Given the description of an element on the screen output the (x, y) to click on. 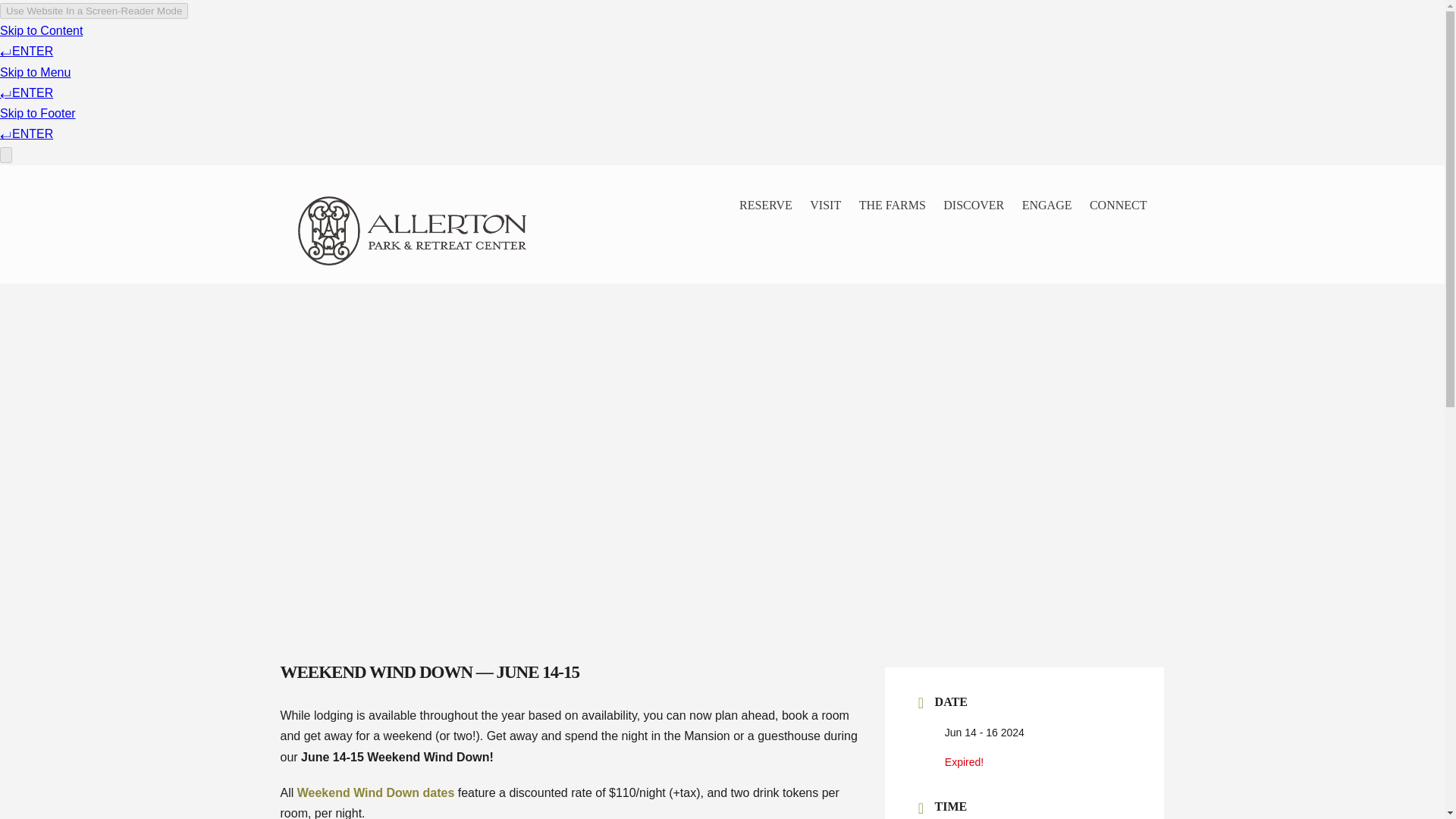
ALLERTON (449, 229)
RESERVE (758, 204)
